Given the description of an element on the screen output the (x, y) to click on. 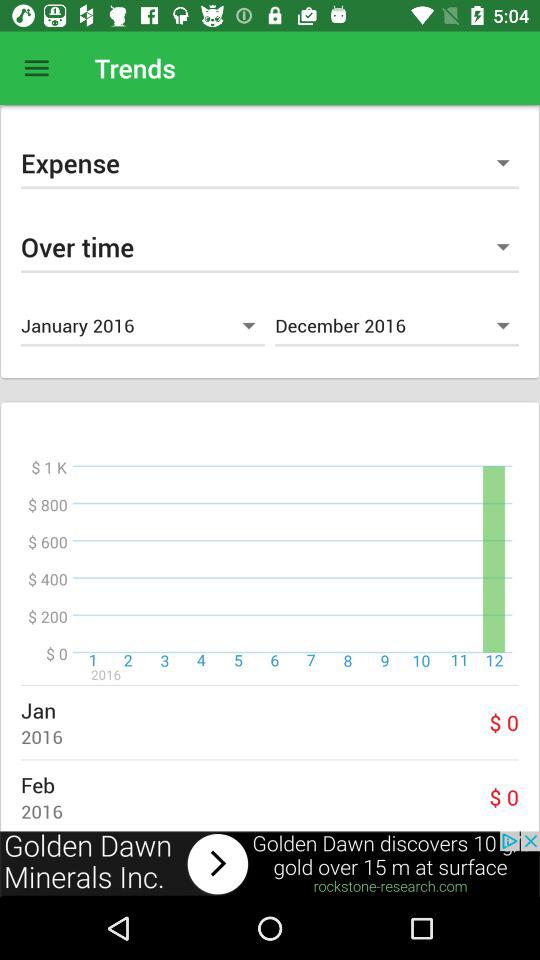
open menu (36, 68)
